Given the description of an element on the screen output the (x, y) to click on. 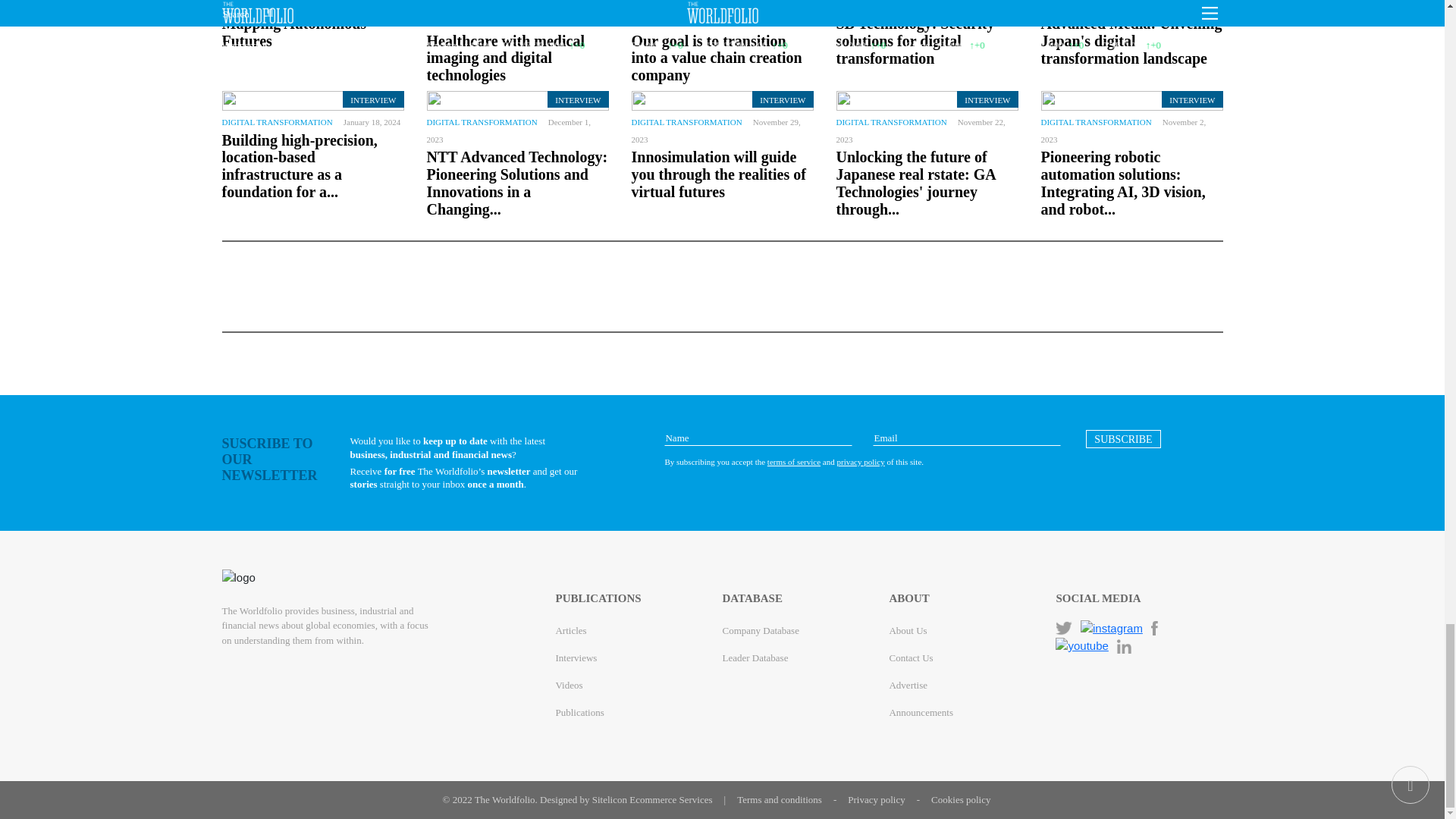
SUBSCRIBE (1123, 438)
